Given the description of an element on the screen output the (x, y) to click on. 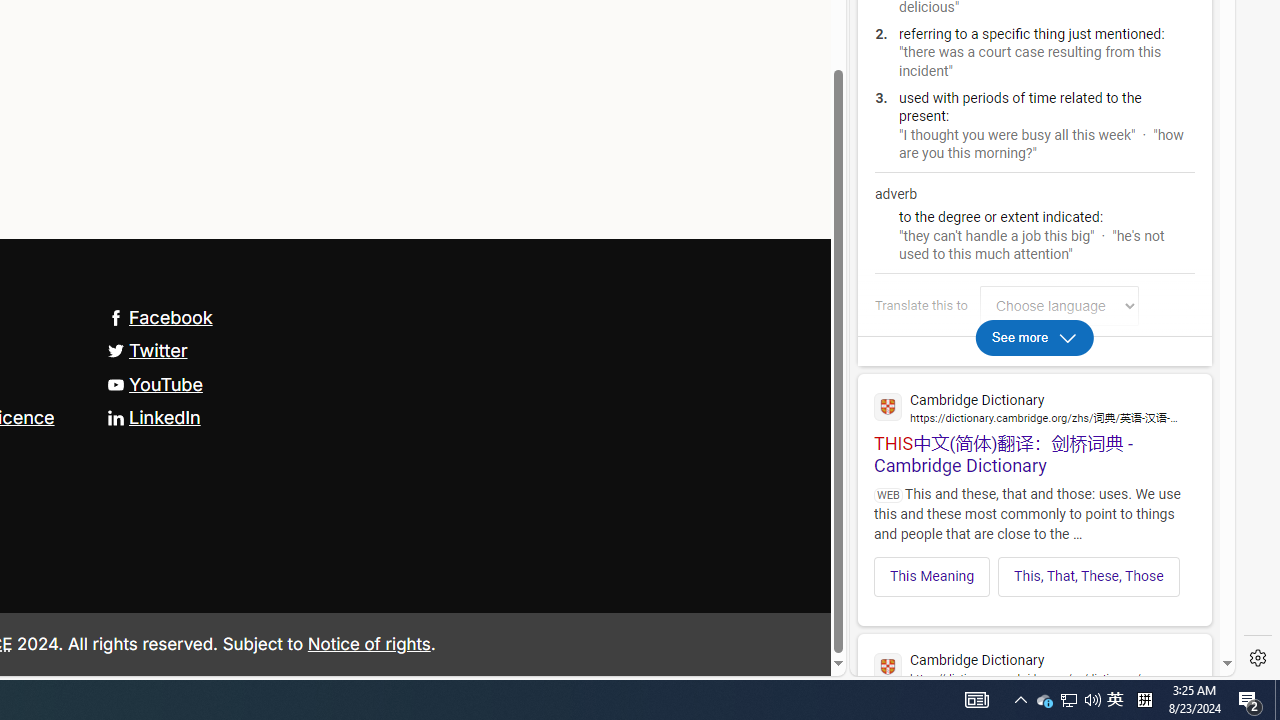
See more (1034, 336)
This, That, These, Those (1088, 575)
YouTube (154, 383)
LinkedIn (153, 417)
Translate this to Choose language (1059, 305)
This, That, These, Those (1089, 575)
